Given the description of an element on the screen output the (x, y) to click on. 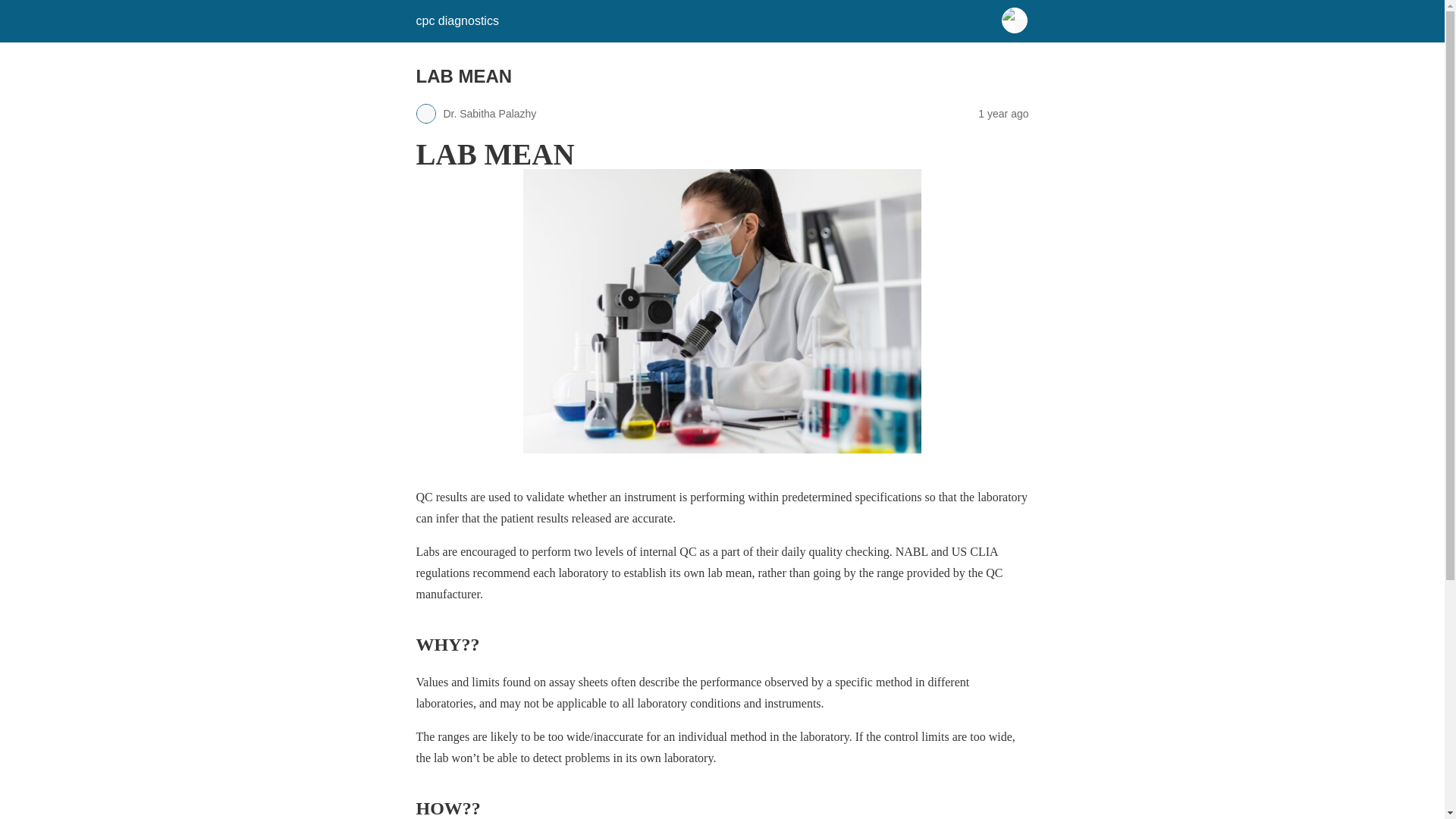
LAB MEAN 1 (721, 310)
cpc diagnostics (455, 20)
